Given the description of an element on the screen output the (x, y) to click on. 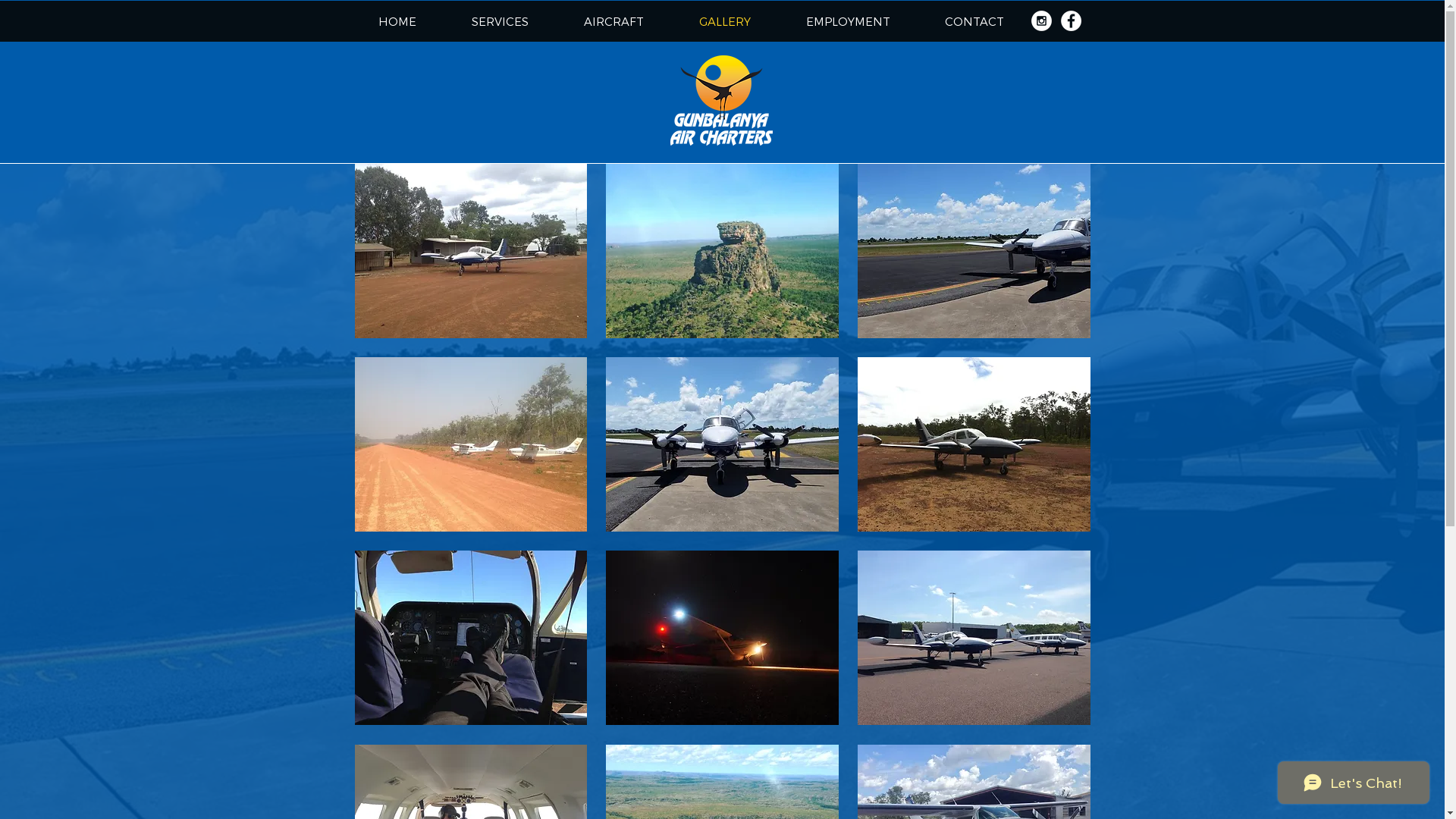
HOME Element type: text (396, 21)
AIRCRAFT Element type: text (613, 21)
CONTACT Element type: text (974, 21)
GALLERY Element type: text (724, 21)
Gunbalanyawhite.png Element type: hover (721, 100)
SERVICES Element type: text (500, 21)
EMPLOYMENT Element type: text (847, 21)
